Given the description of an element on the screen output the (x, y) to click on. 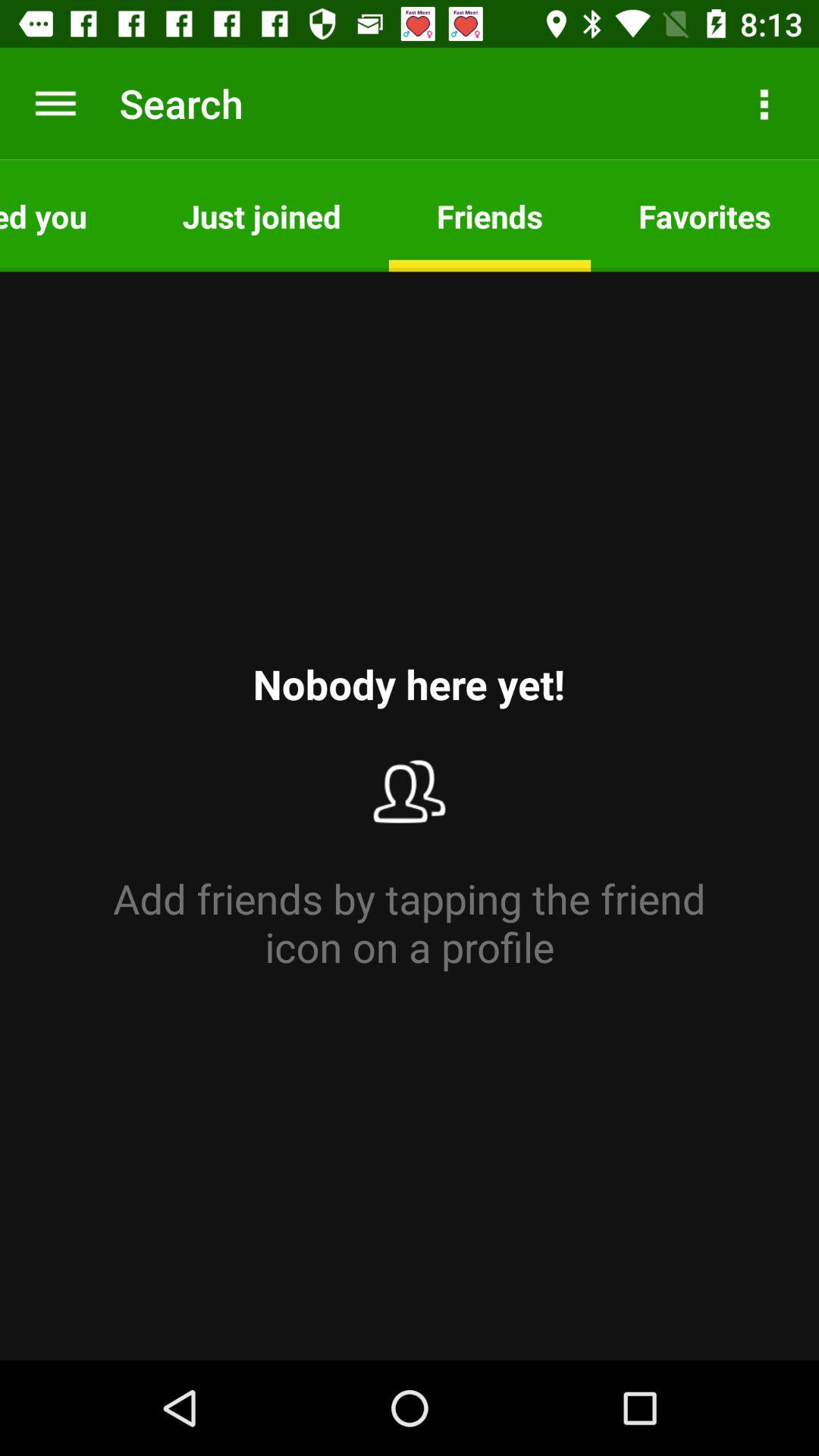
turn off the item next to the friends icon (704, 215)
